Given the description of an element on the screen output the (x, y) to click on. 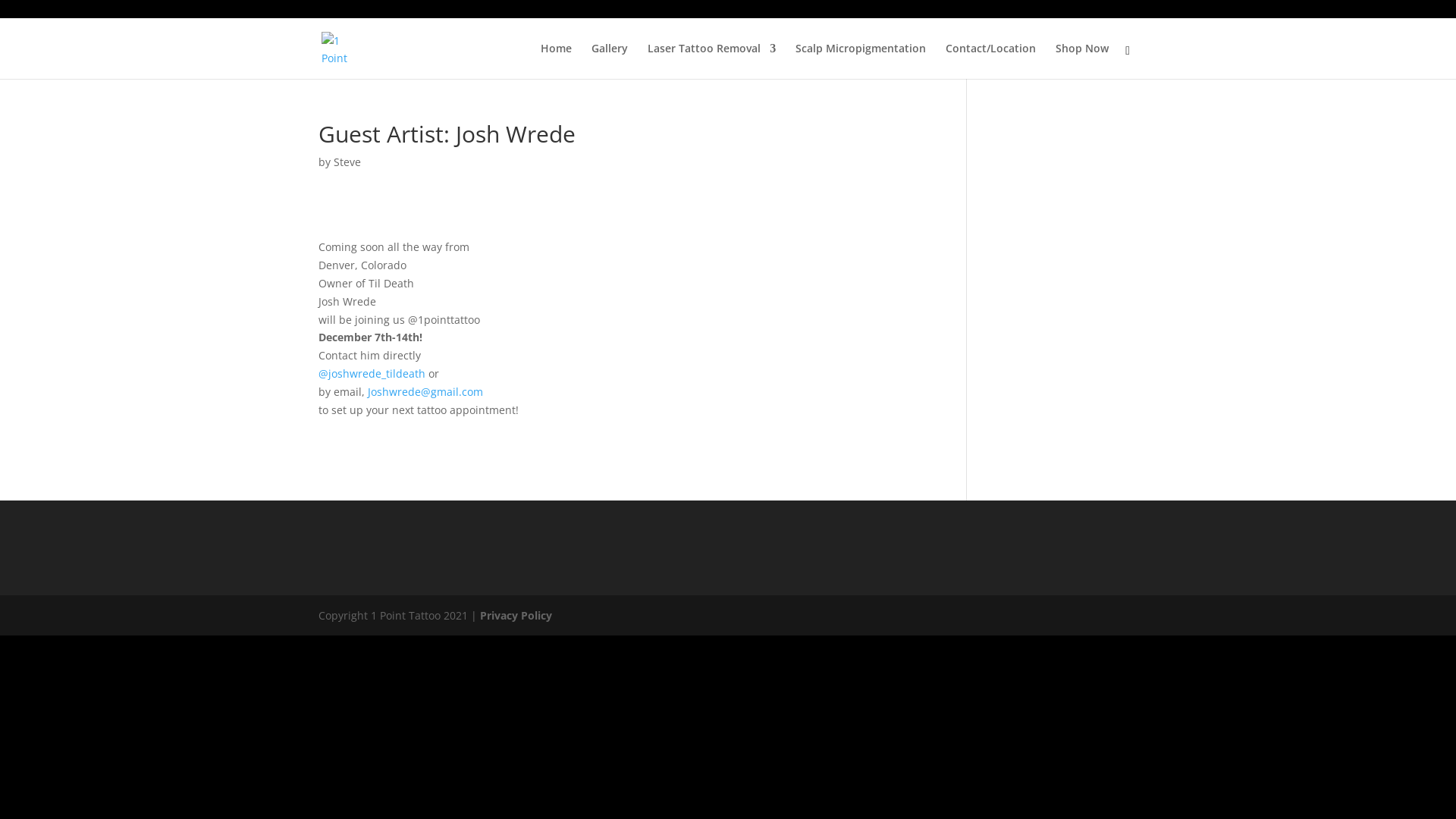
Joshwrede@gmail.com Element type: text (425, 391)
Contact/Location Element type: text (990, 60)
Laser Tattoo Removal Element type: text (711, 60)
@joshwrede_tildeath Element type: text (373, 373)
Shop Now Element type: text (1081, 60)
Privacy Policy Element type: text (516, 615)
Home Element type: text (555, 60)
Scalp Micropigmentation Element type: text (860, 60)
Steve Element type: text (346, 161)
Gallery Element type: text (609, 60)
